Given the description of an element on the screen output the (x, y) to click on. 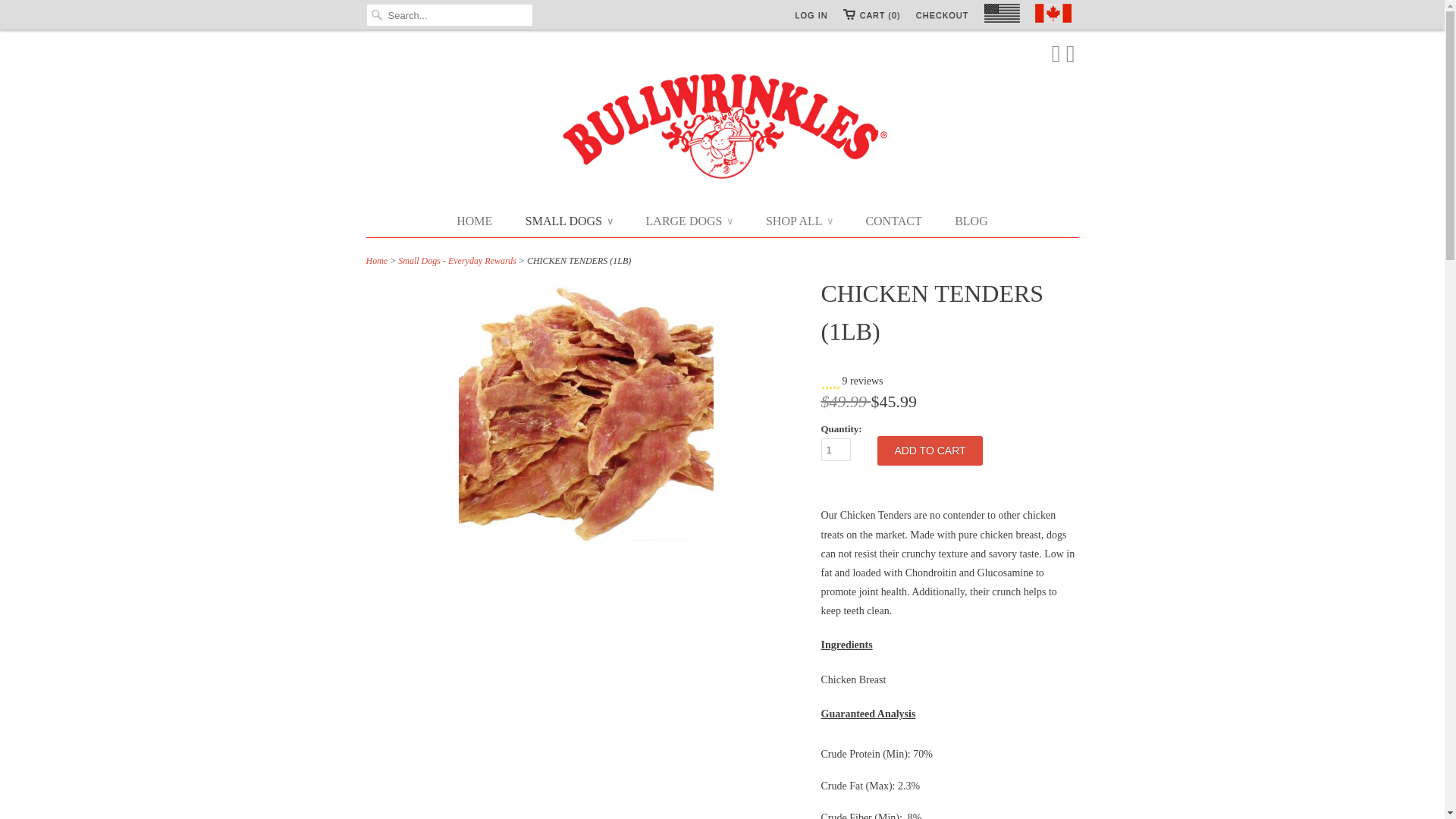
1 (835, 449)
LOG IN (810, 15)
Cart (872, 15)
HOME (474, 220)
Bullwrinkles CANADA (721, 127)
Checkout (942, 15)
Add to Cart (930, 450)
CHECKOUT (942, 15)
